Given the description of an element on the screen output the (x, y) to click on. 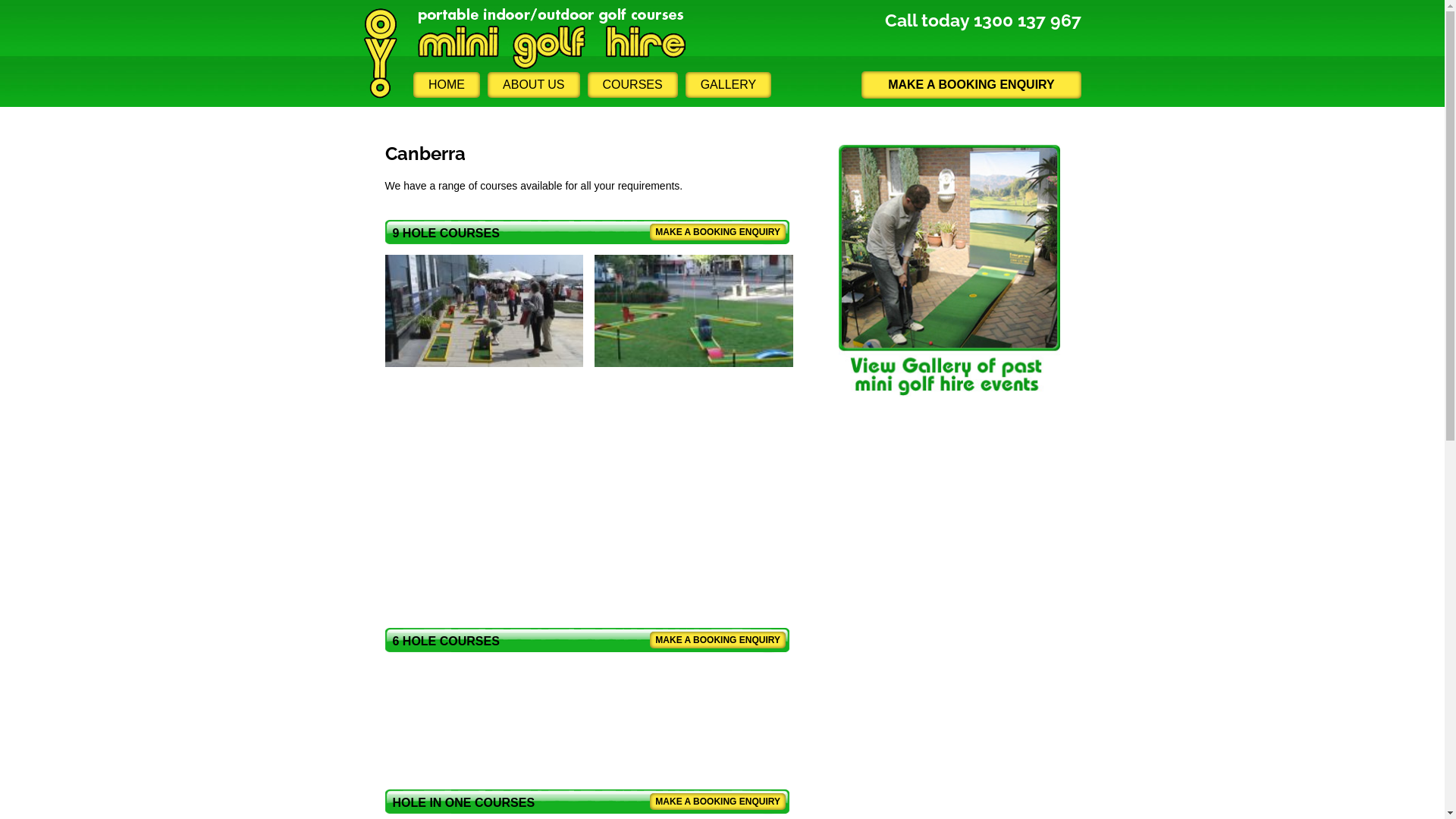
Call today 1300 137 967 Element type: text (982, 19)
MAKE A BOOKING ENQUIRY Element type: text (717, 801)
ABOUT US Element type: text (533, 84)
COURSES Element type: text (632, 84)
MAKE A BOOKING ENQUIRY Element type: text (971, 84)
MAKE A BOOKING ENQUIRY Element type: text (717, 231)
MAKE A BOOKING ENQUIRY Element type: text (717, 639)
HOME Element type: text (446, 84)
GALLERY Element type: text (728, 84)
